Given the description of an element on the screen output the (x, y) to click on. 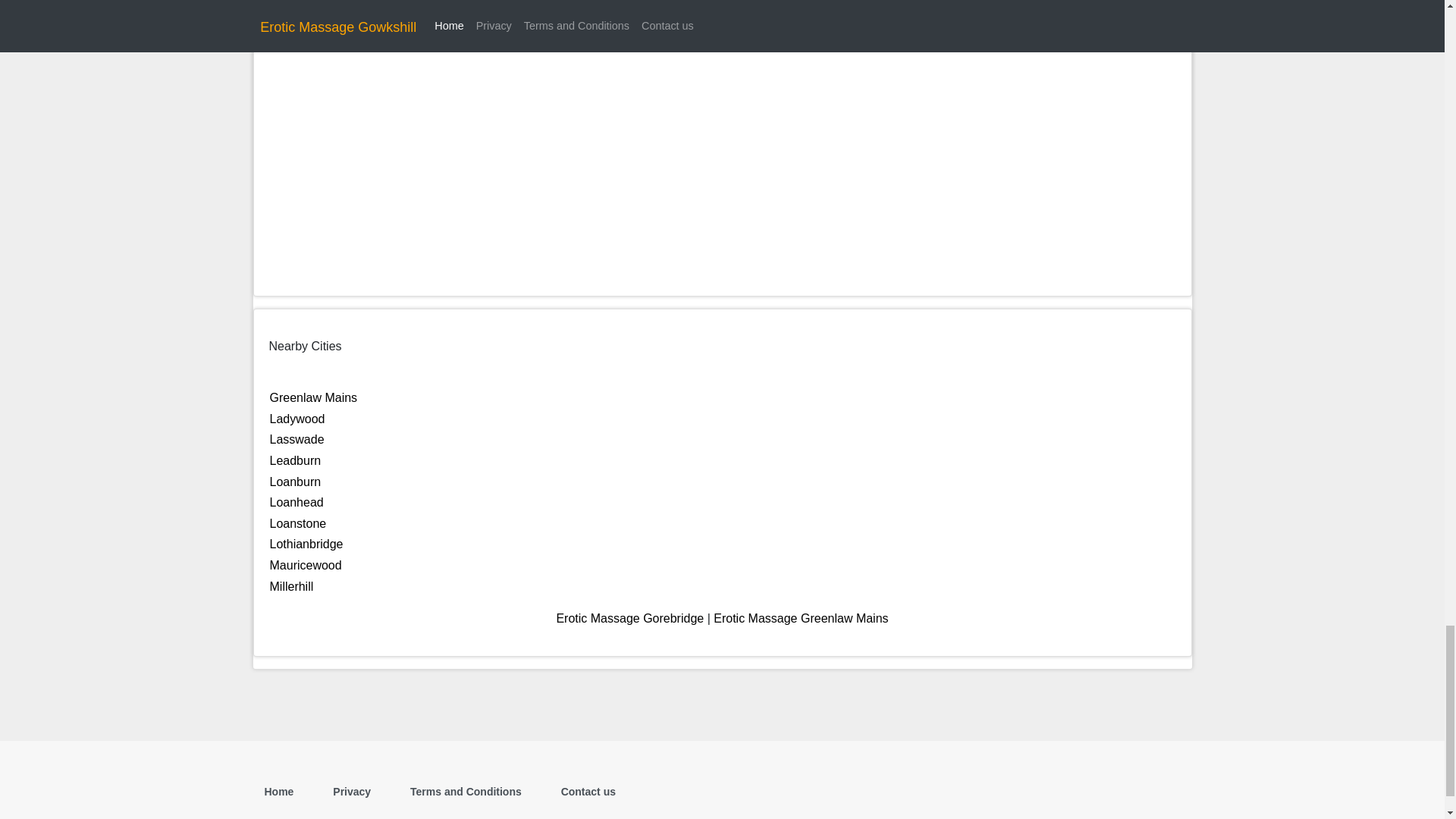
Loanhead (296, 502)
Leadburn (295, 460)
Lasswade (296, 439)
Erotic Massage Greenlaw Mains (800, 617)
Lothianbridge (306, 543)
Greenlaw Mains (313, 397)
Erotic Massage Gorebridge (629, 617)
Millerhill (291, 585)
Ladywood (296, 418)
Loanburn (295, 481)
Loanstone (297, 522)
Mauricewood (305, 564)
